Given the description of an element on the screen output the (x, y) to click on. 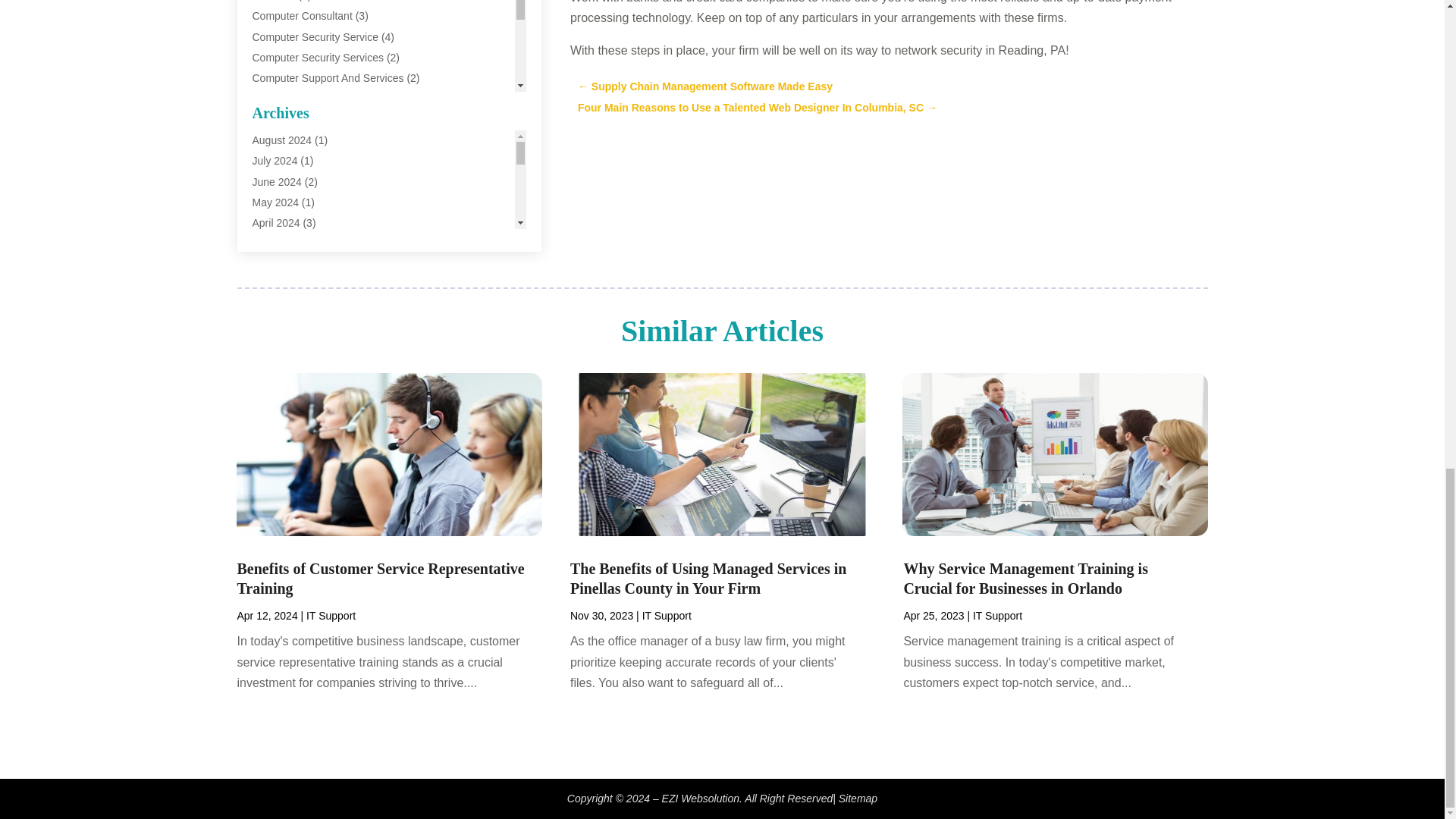
Internet Service Provider (309, 222)
Supply Chain Management (315, 325)
Digital Marketing (290, 140)
Online Marketing (291, 263)
Software Development (305, 304)
Computer Security Service (314, 37)
Internet Marketing (294, 181)
Web Development Software (317, 387)
Internet Marketing Service (313, 201)
IT Support (276, 242)
